Given the description of an element on the screen output the (x, y) to click on. 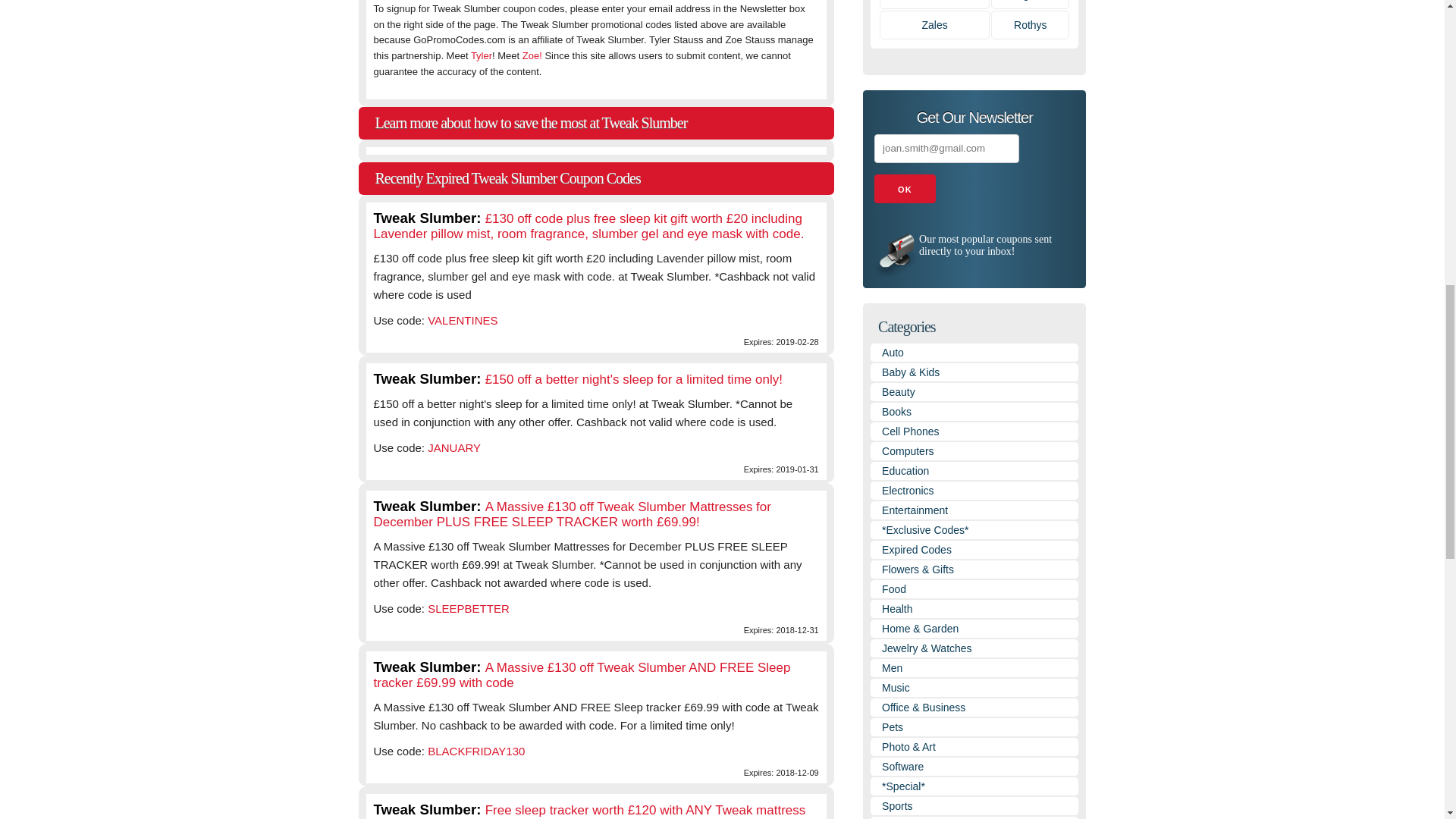
JANUARY (454, 447)
BLACKFRIDAY130 (476, 750)
SLEEPBETTER (468, 608)
OK (905, 188)
Zales (934, 24)
Tyler (481, 55)
VALENTINES (462, 319)
Zoe! (531, 55)
